Given the description of an element on the screen output the (x, y) to click on. 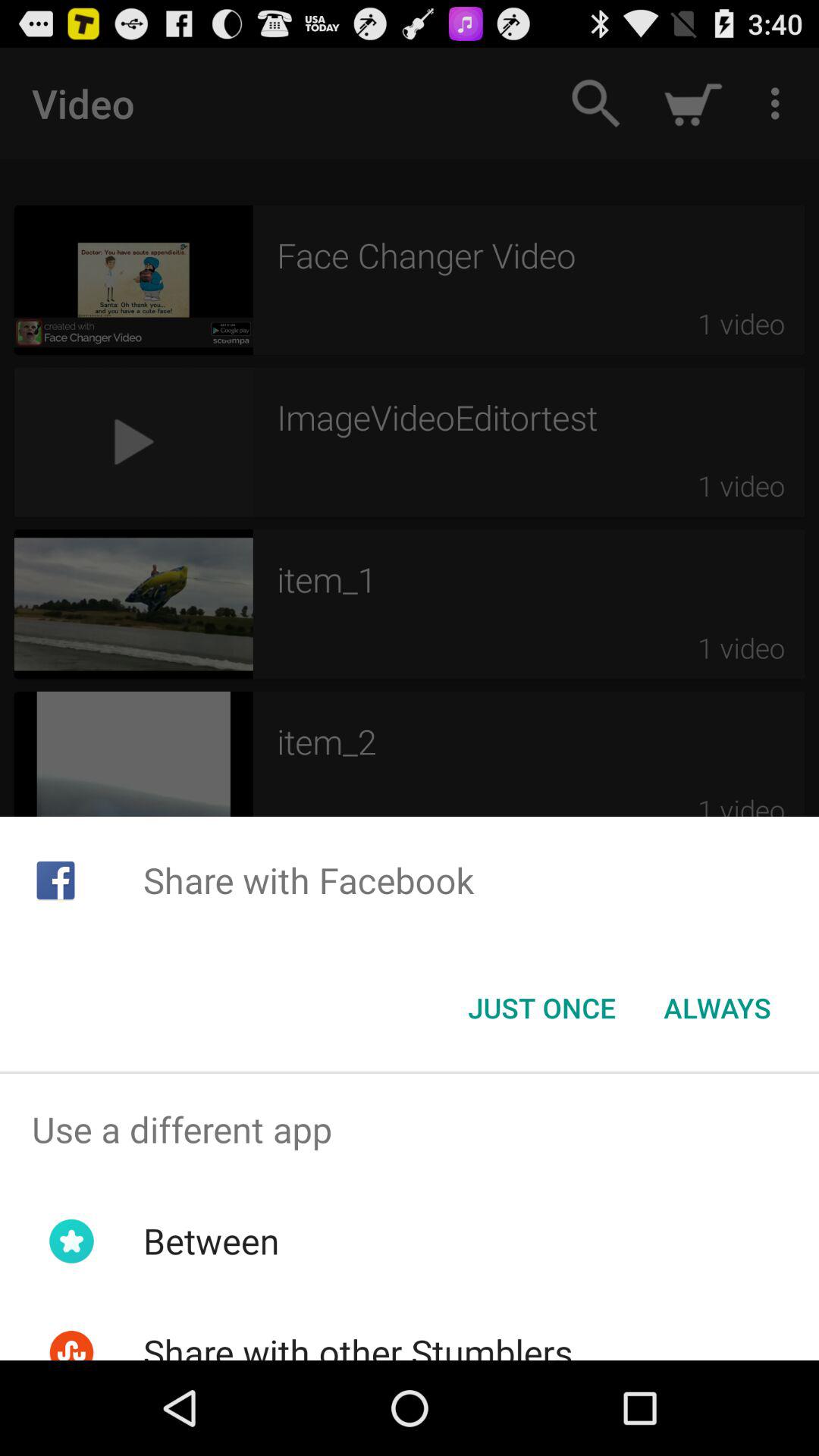
open the app below use a different app (211, 1240)
